Given the description of an element on the screen output the (x, y) to click on. 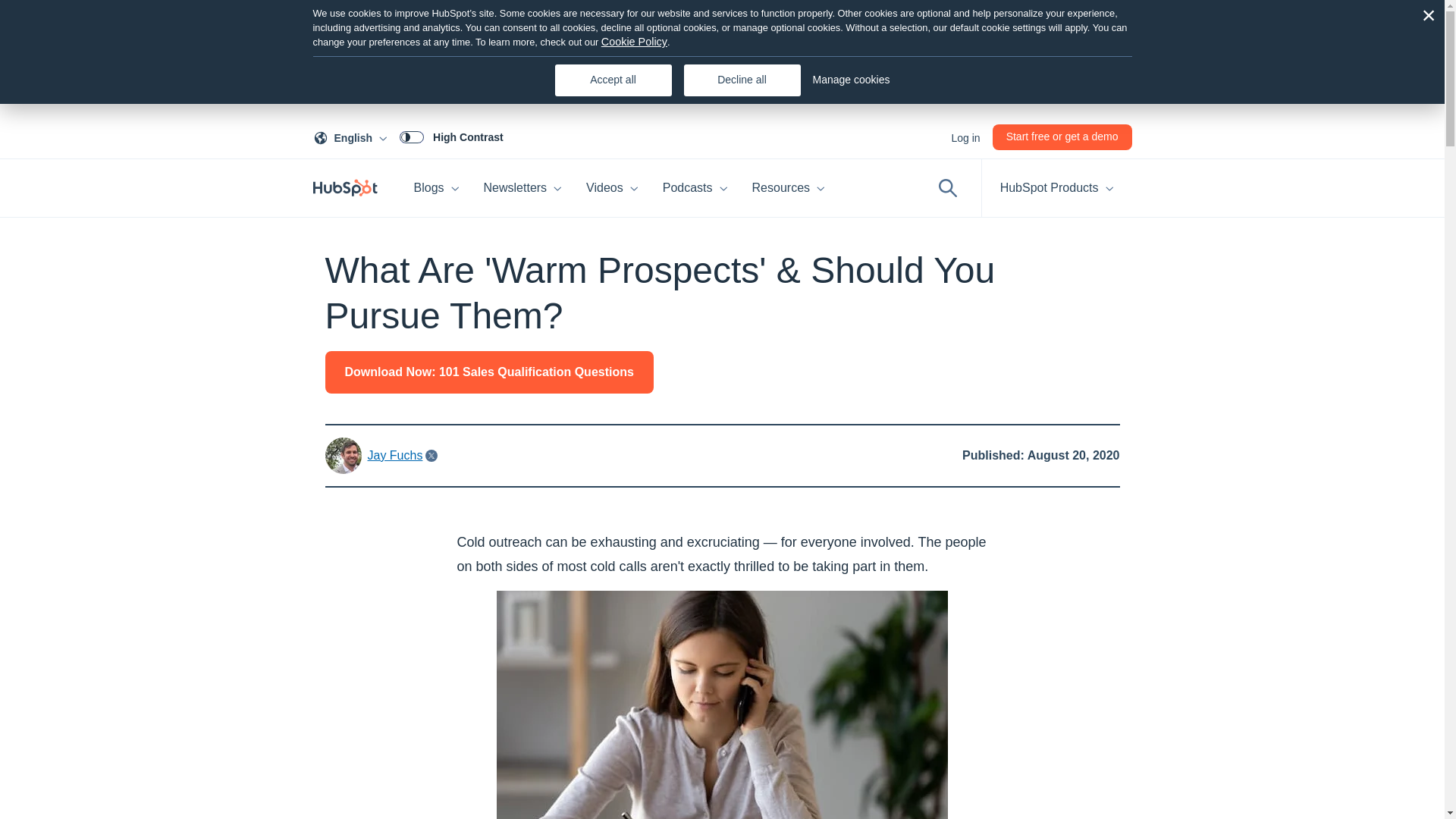
Blogs (436, 187)
Log in (353, 136)
High Contrast (964, 137)
Newsletters (450, 137)
Start free or get a demo (523, 187)
